Given the description of an element on the screen output the (x, y) to click on. 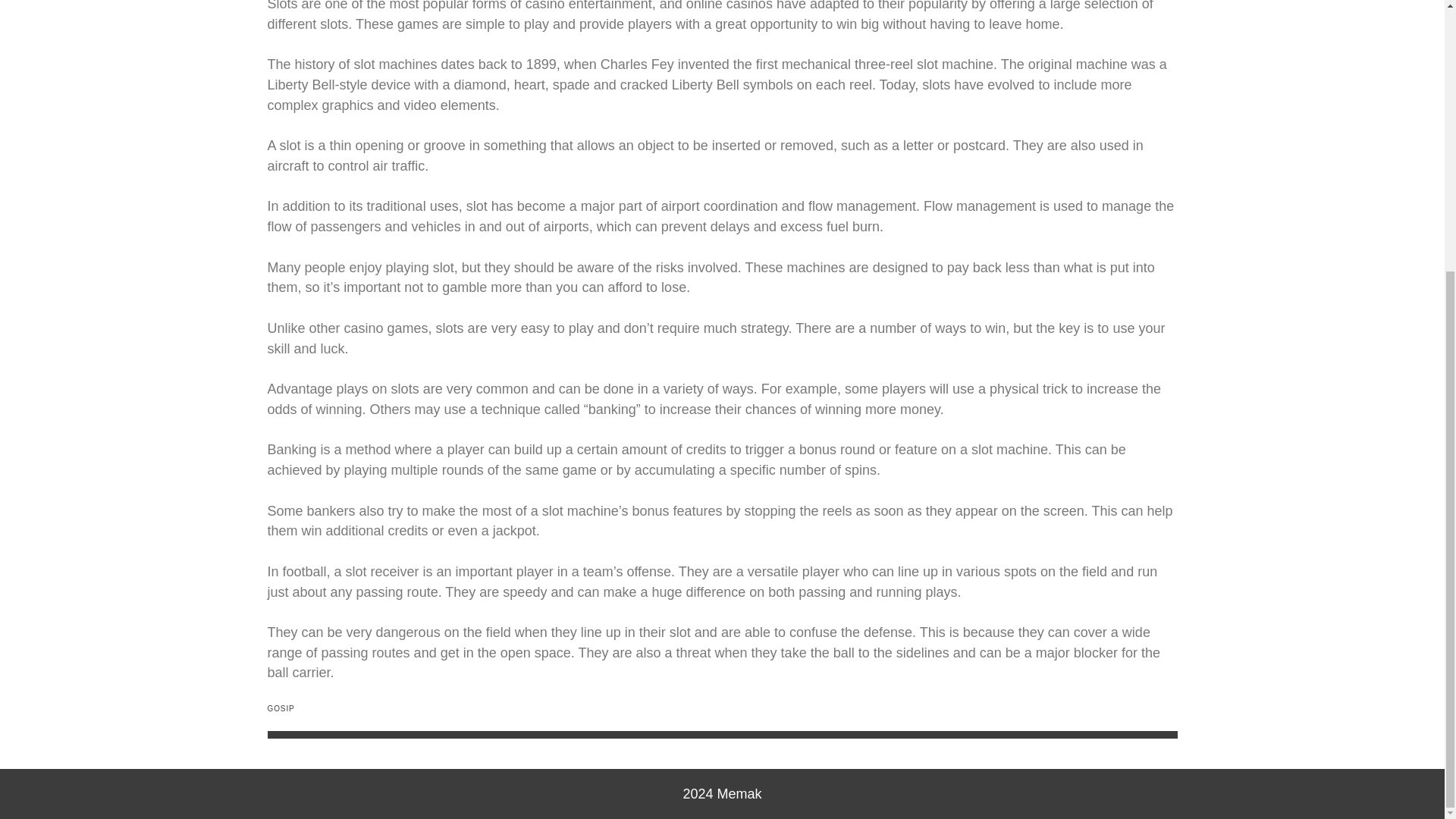
GOSIP (280, 708)
